Given the description of an element on the screen output the (x, y) to click on. 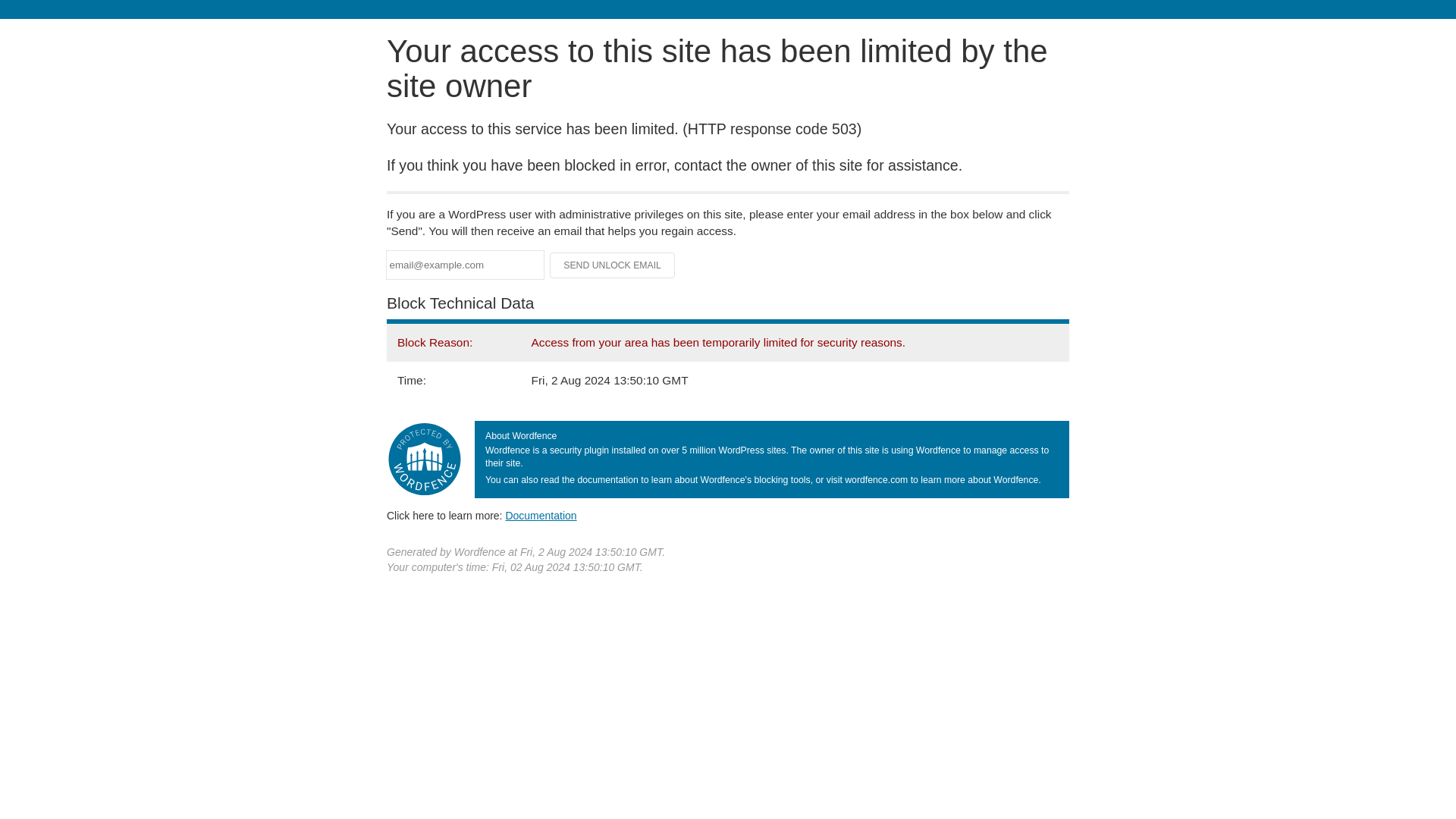
Send Unlock Email (612, 265)
Documentation (540, 515)
Send Unlock Email (612, 265)
